Given the description of an element on the screen output the (x, y) to click on. 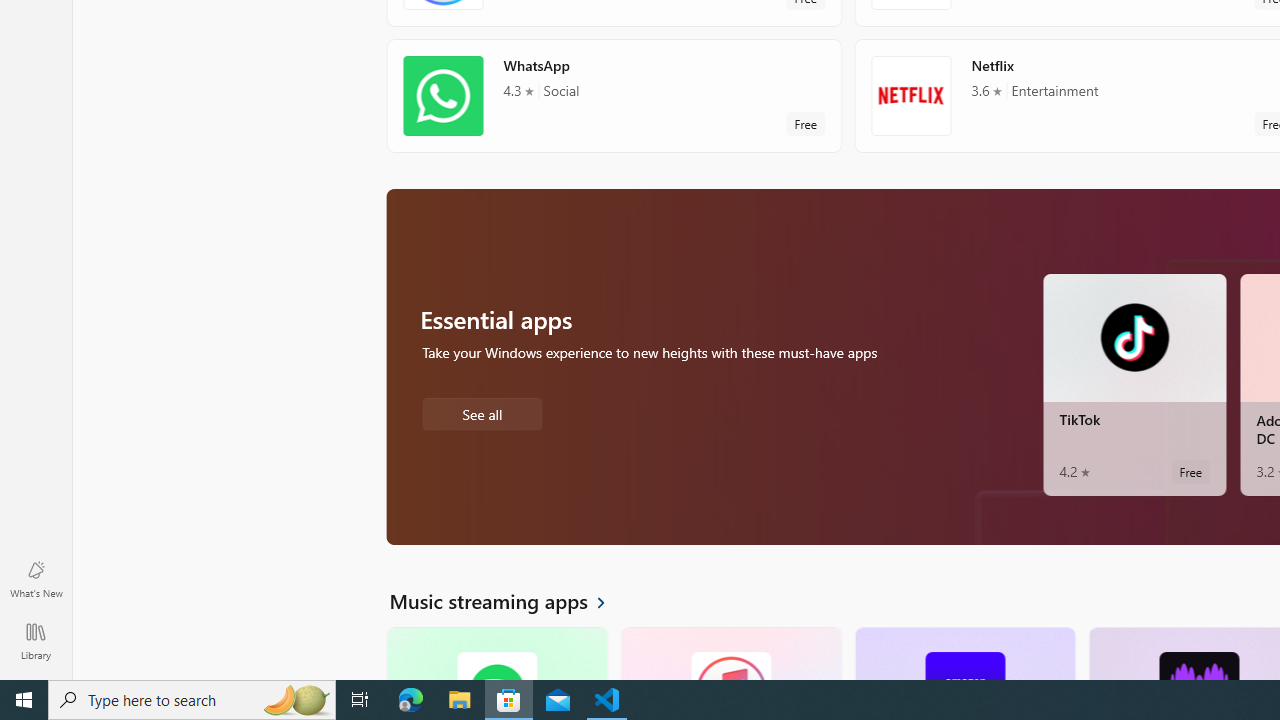
See all  Essential apps (481, 412)
iTunes. Average rating of 2.5 out of five stars. Free   (730, 653)
See all  Music streaming apps (509, 600)
WhatsApp. Average rating of 4.3 out of five stars. Free   (614, 95)
TikTok. Average rating of 4.2 out of five stars. Free   (1134, 384)
